Given the description of an element on the screen output the (x, y) to click on. 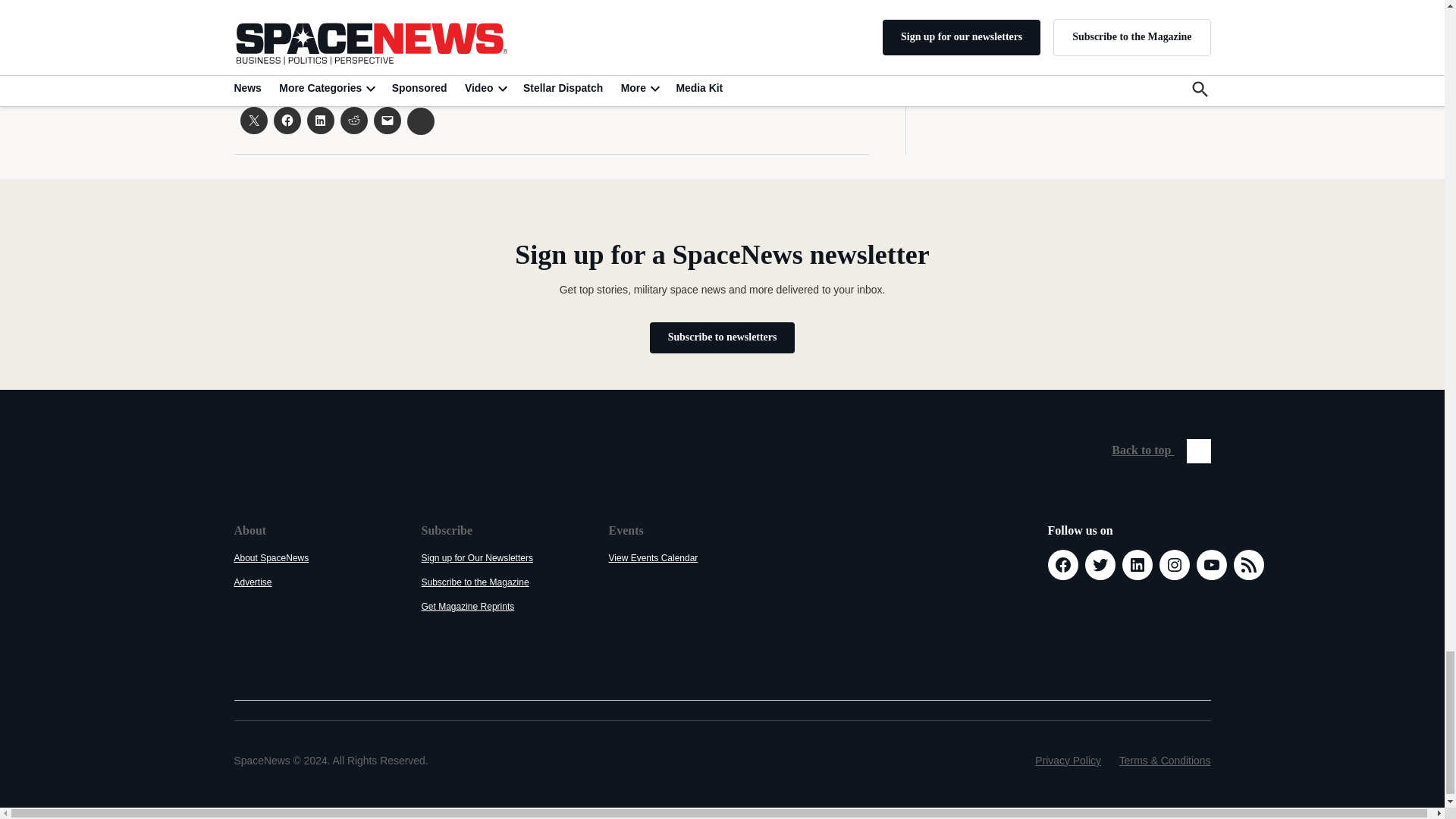
Click to share on Facebook (286, 120)
Click to share on Reddit (352, 120)
Click to share on X (253, 120)
Click to email a link to a friend (386, 120)
Click to share on Clipboard (419, 121)
Click to share on LinkedIn (319, 120)
